Given the description of an element on the screen output the (x, y) to click on. 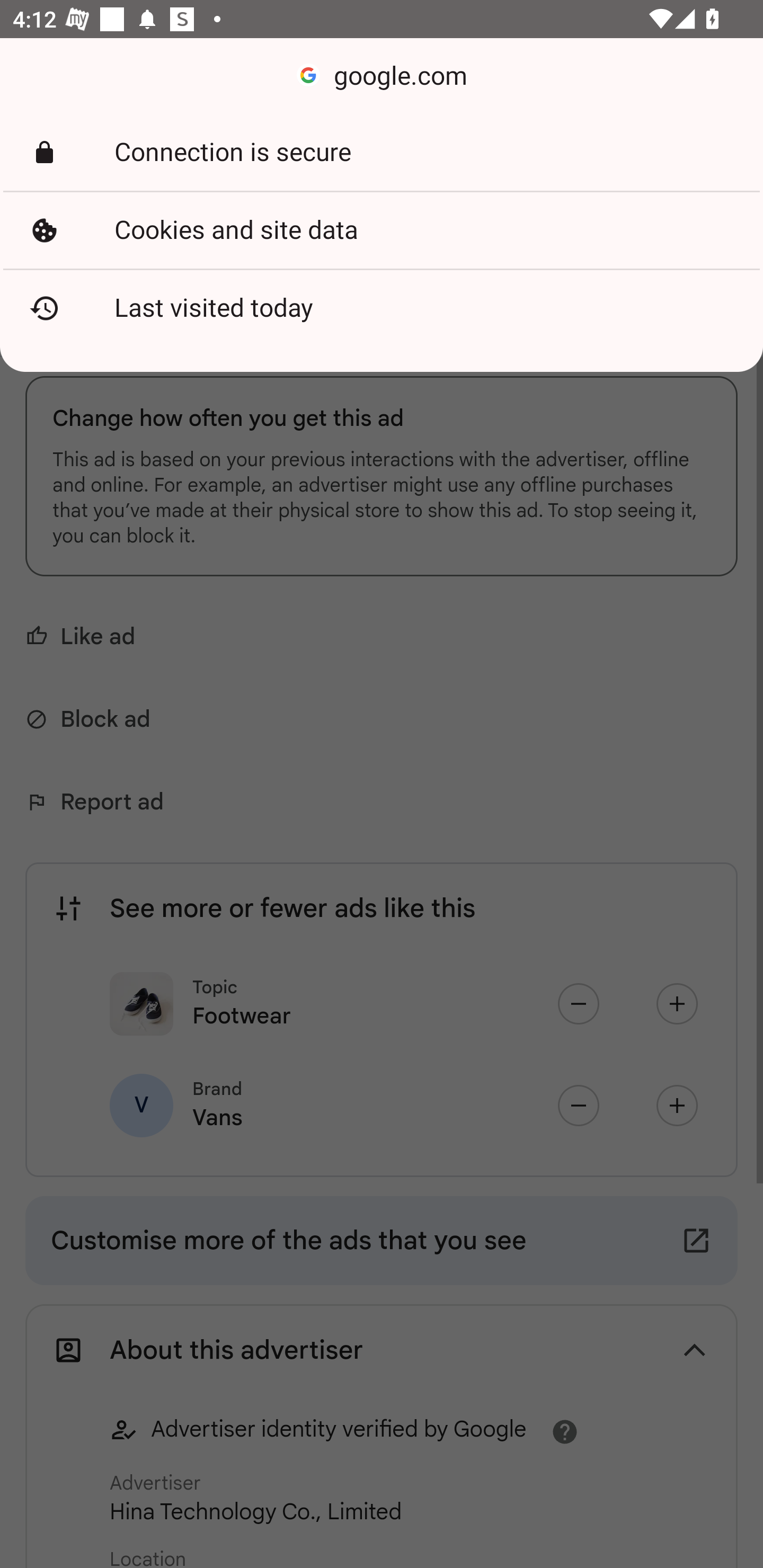
google.com (381, 75)
Connection is secure (381, 152)
Cookies and site data (381, 230)
Last visited today (381, 307)
